Given the description of an element on the screen output the (x, y) to click on. 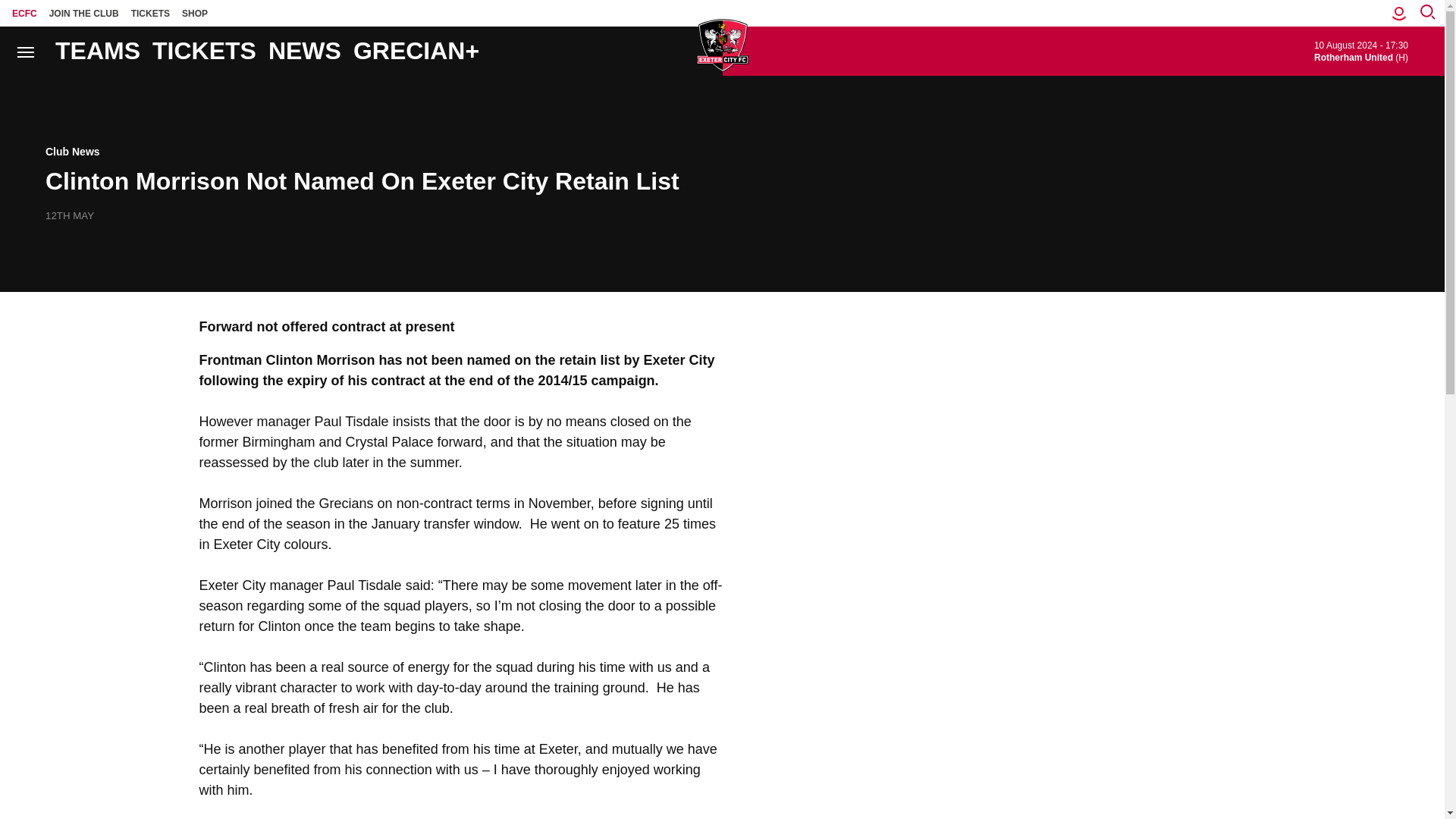
SHOP (195, 13)
JOIN THE CLUB (84, 13)
ECFC (24, 13)
TICKETS (150, 13)
